Given the description of an element on the screen output the (x, y) to click on. 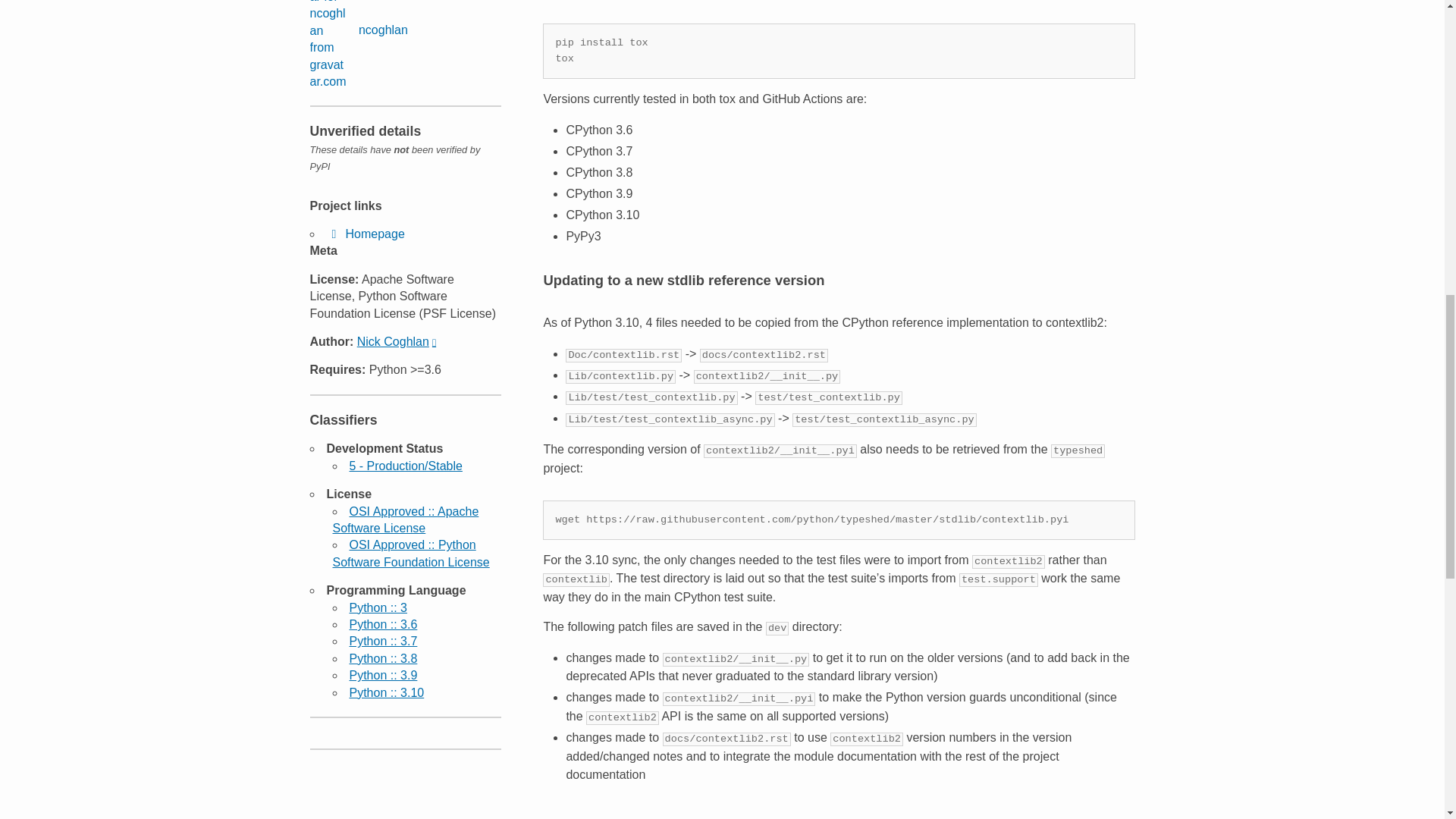
ncoghlan (357, 45)
Python :: 3.8 (382, 658)
Python :: 3.6 (382, 624)
Nick Coghlan (395, 341)
Python :: 3.9 (382, 675)
Python :: 3 (378, 607)
Python :: 3.10 (386, 692)
Python :: 3.7 (382, 640)
Homepage (365, 233)
OSI Approved :: Python Software Foundation License (410, 553)
OSI Approved :: Apache Software License (405, 519)
